Given the description of an element on the screen output the (x, y) to click on. 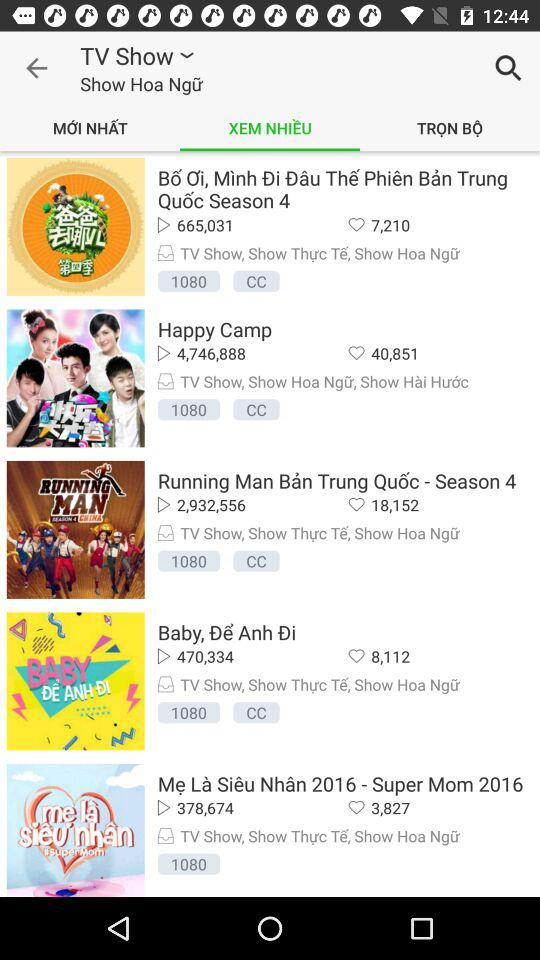
turn on icon to the left of tv show (36, 68)
